Given the description of an element on the screen output the (x, y) to click on. 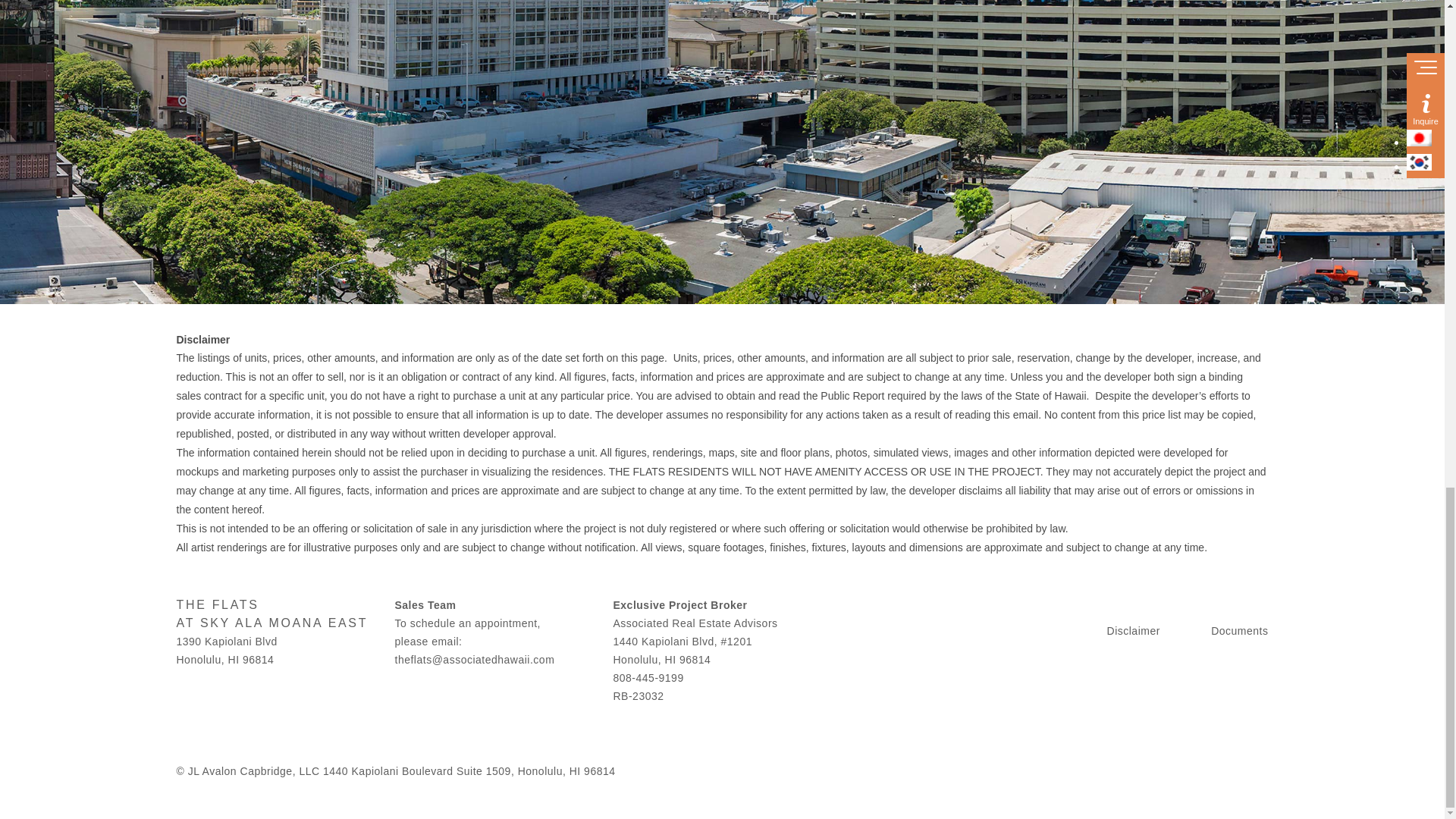
Disclaimer (1133, 630)
Documents (1239, 630)
